Given the description of an element on the screen output the (x, y) to click on. 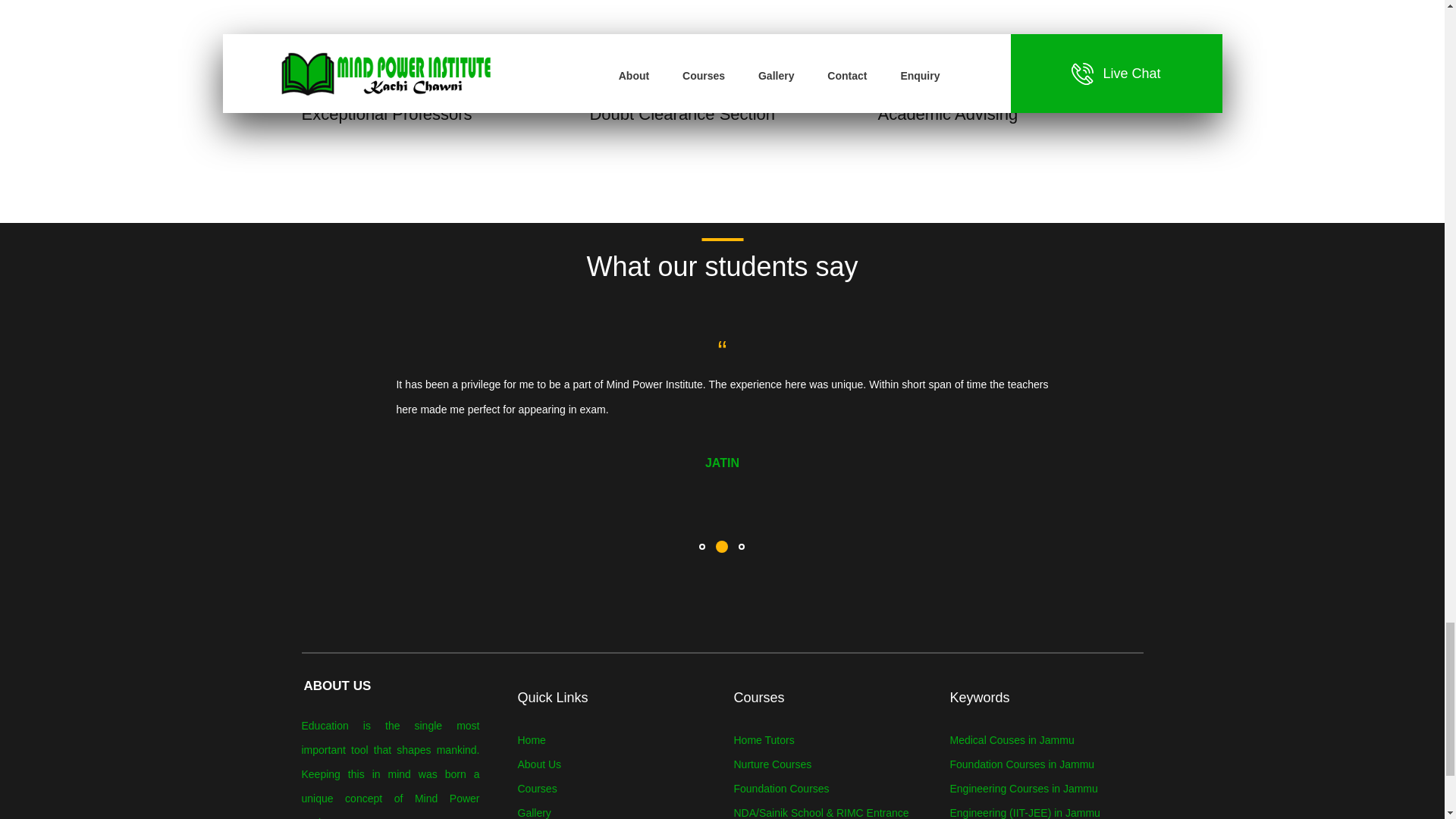
Gallery (533, 812)
Home (530, 739)
About Us (538, 764)
Courses (536, 788)
